Given the description of an element on the screen output the (x, y) to click on. 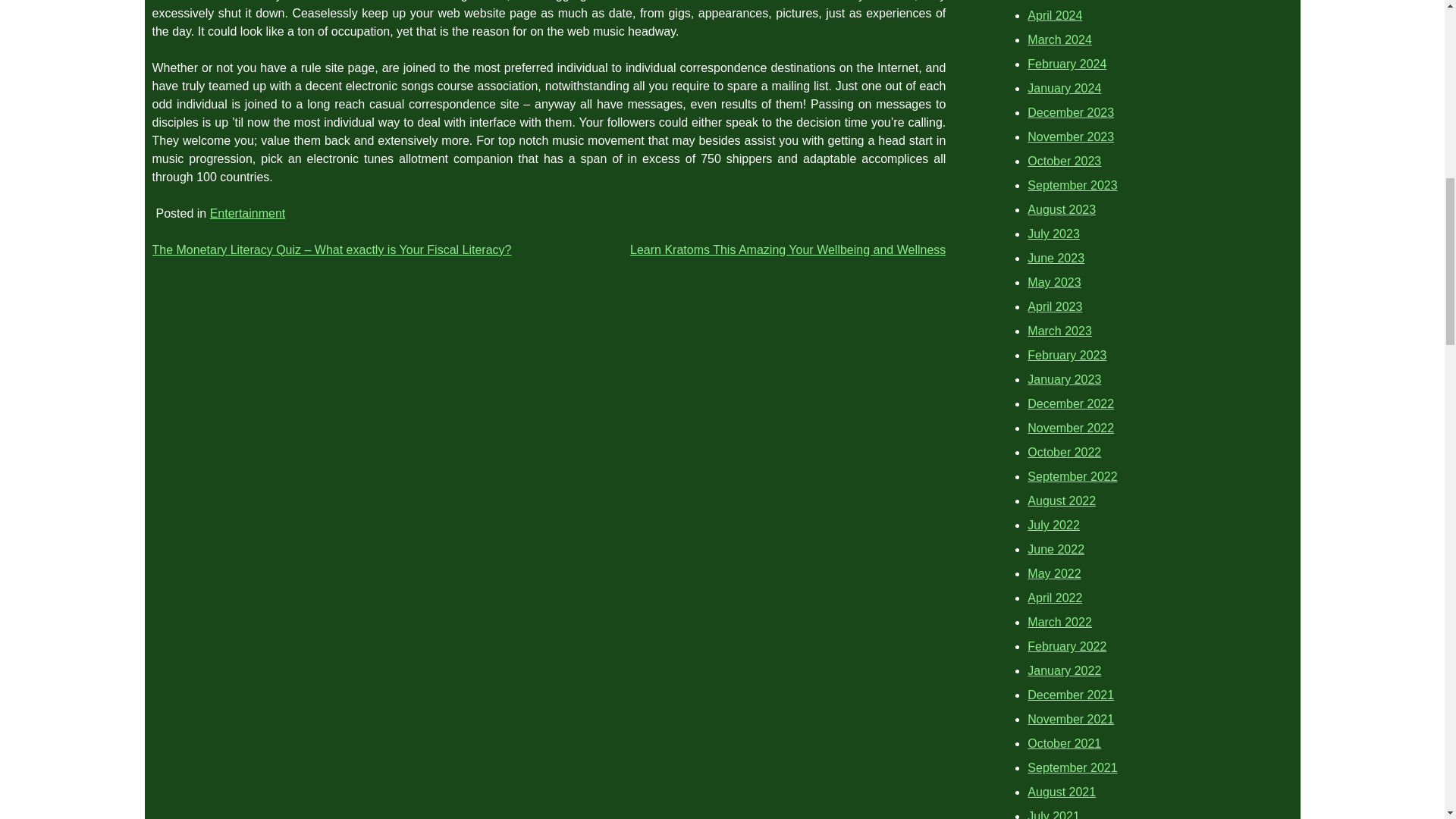
September 2023 (1071, 185)
December 2023 (1070, 112)
November 2022 (1070, 427)
March 2024 (1059, 39)
November 2023 (1070, 136)
April 2024 (1054, 15)
Learn Kratoms This Amazing Your Wellbeing and Wellness (787, 248)
May 2023 (1053, 282)
August 2023 (1061, 209)
April 2023 (1054, 306)
January 2023 (1063, 379)
October 2023 (1063, 160)
March 2023 (1059, 330)
February 2023 (1066, 354)
February 2024 (1066, 63)
